Given the description of an element on the screen output the (x, y) to click on. 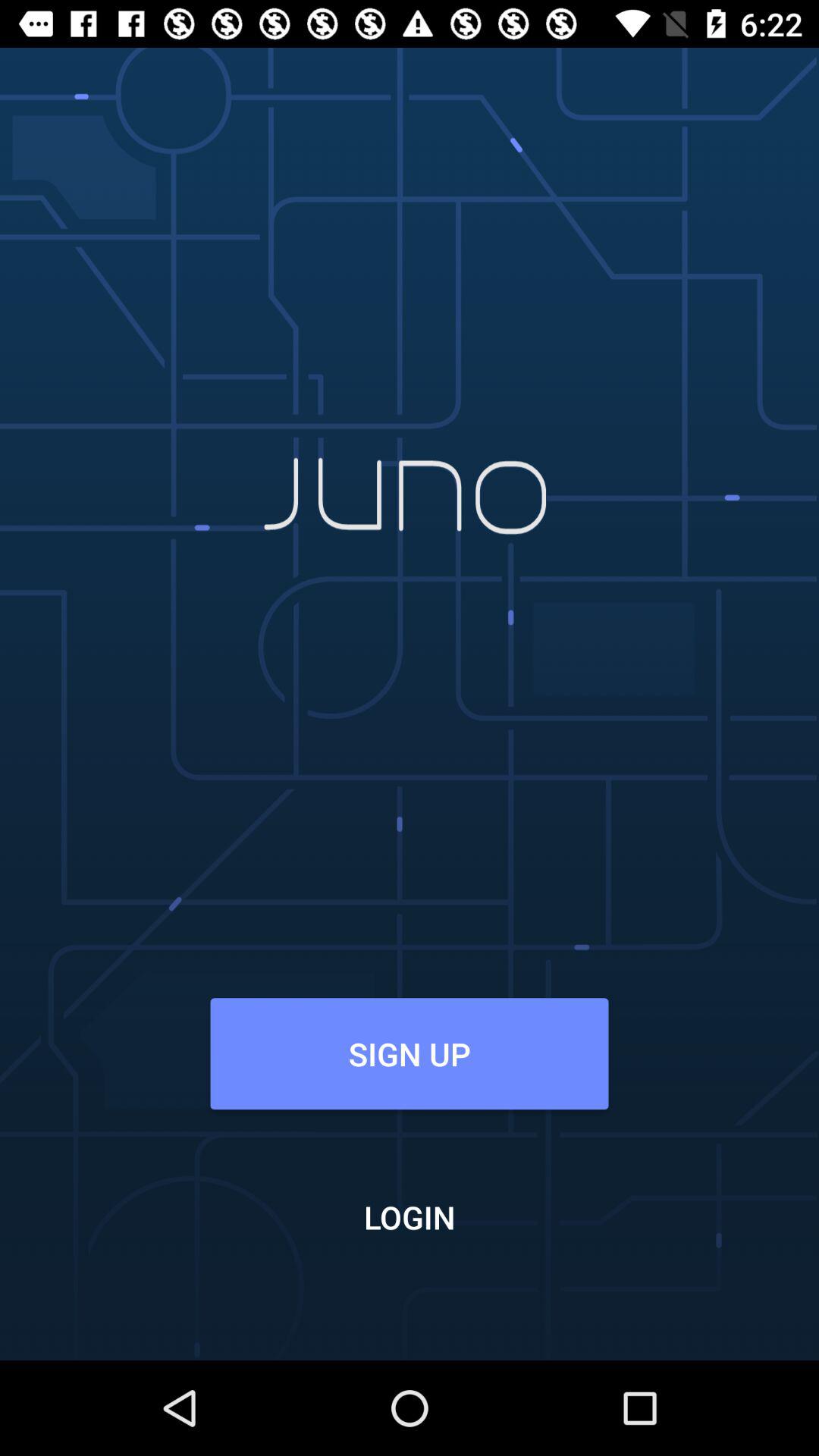
turn on login icon (409, 1216)
